Given the description of an element on the screen output the (x, y) to click on. 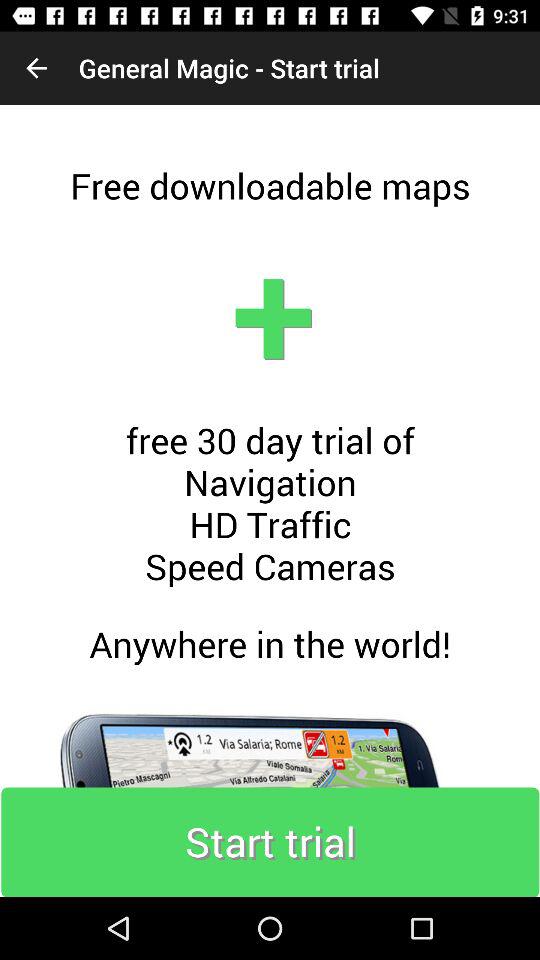
open app trial advertisement (270, 501)
